Given the description of an element on the screen output the (x, y) to click on. 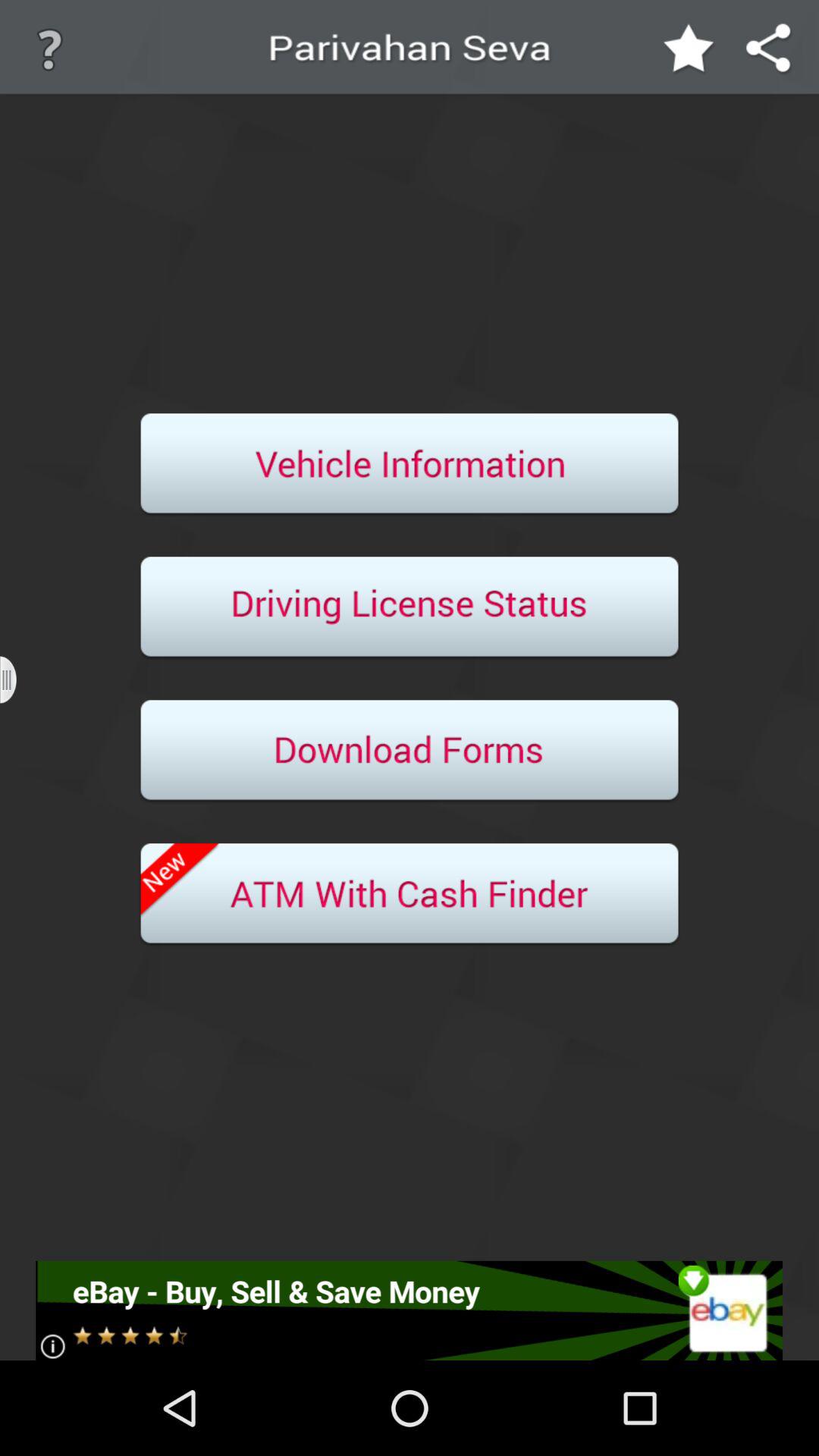
star this item (689, 49)
